Given the description of an element on the screen output the (x, y) to click on. 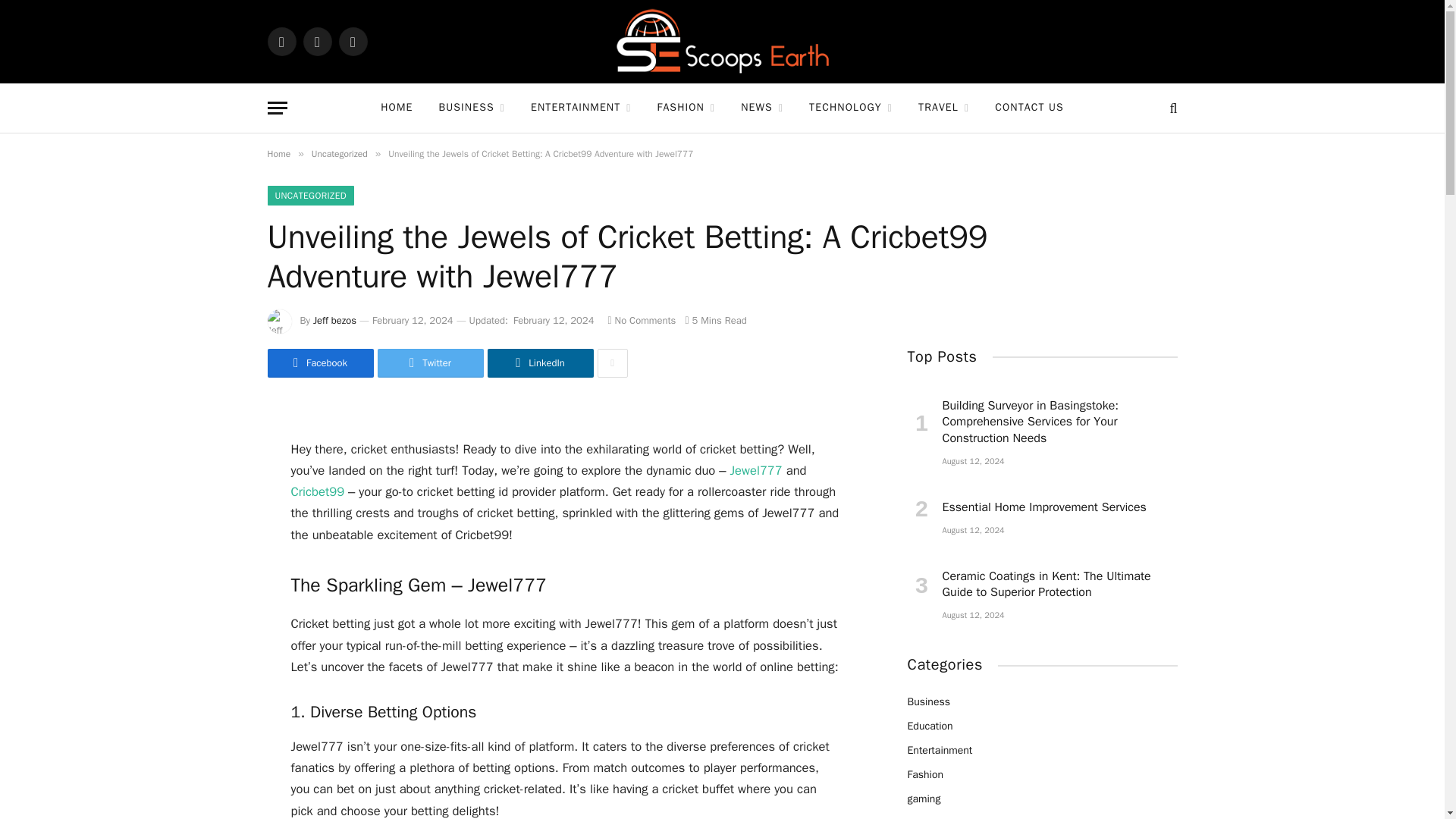
Scoops Earth (722, 41)
ENTERTAINMENT (581, 107)
HOME (396, 107)
FASHION (687, 107)
Instagram (351, 41)
Facebook (280, 41)
BUSINESS (471, 107)
Twitter (316, 41)
